Given the description of an element on the screen output the (x, y) to click on. 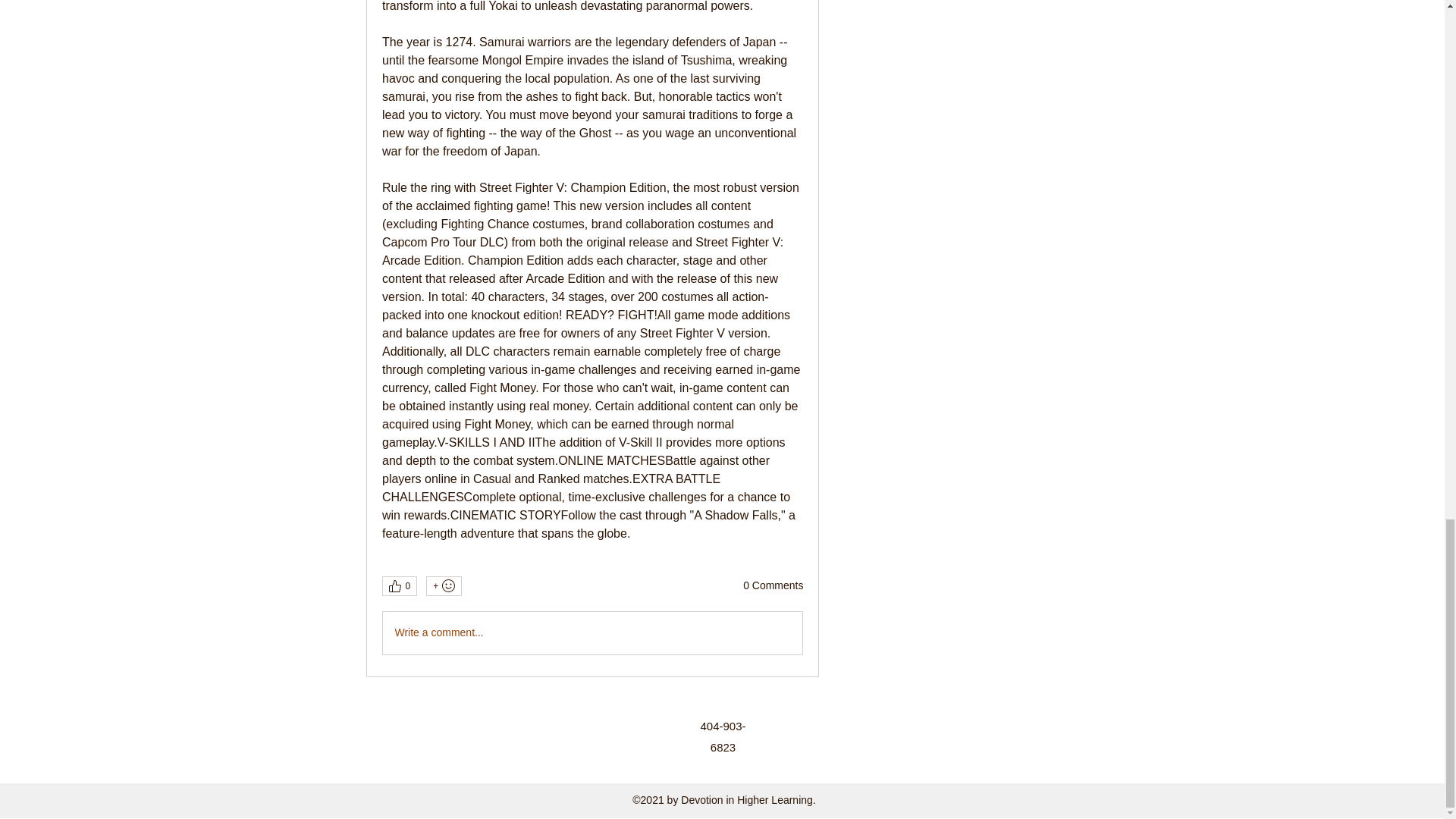
0 Comments (772, 585)
Write a comment... (591, 631)
